Given the description of an element on the screen output the (x, y) to click on. 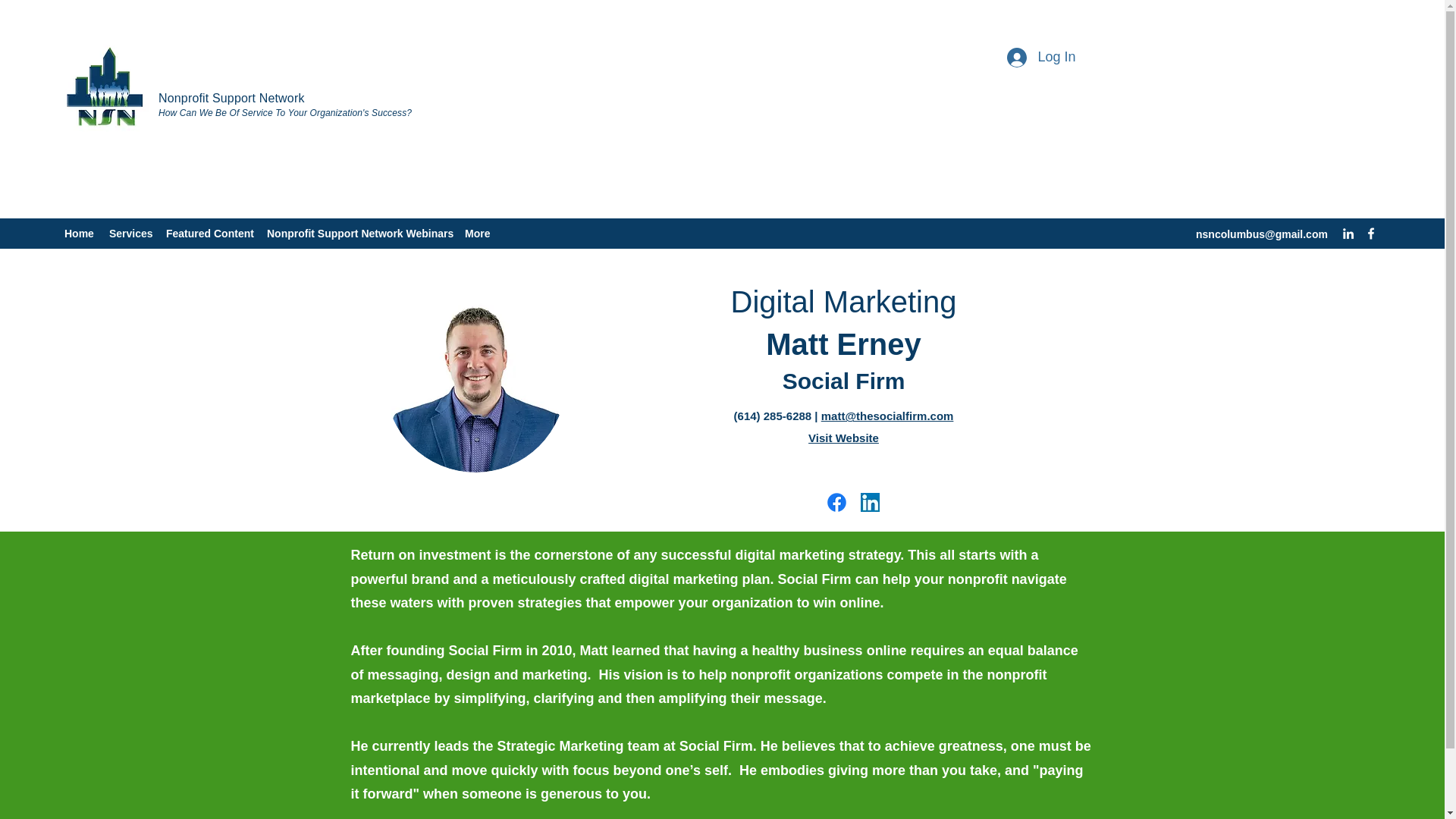
guy2.jpg (475, 382)
Nonprofit Support Network Webinars (358, 232)
Featured Content (208, 232)
Home (78, 232)
Log In (1040, 57)
Services (129, 232)
